Given the description of an element on the screen output the (x, y) to click on. 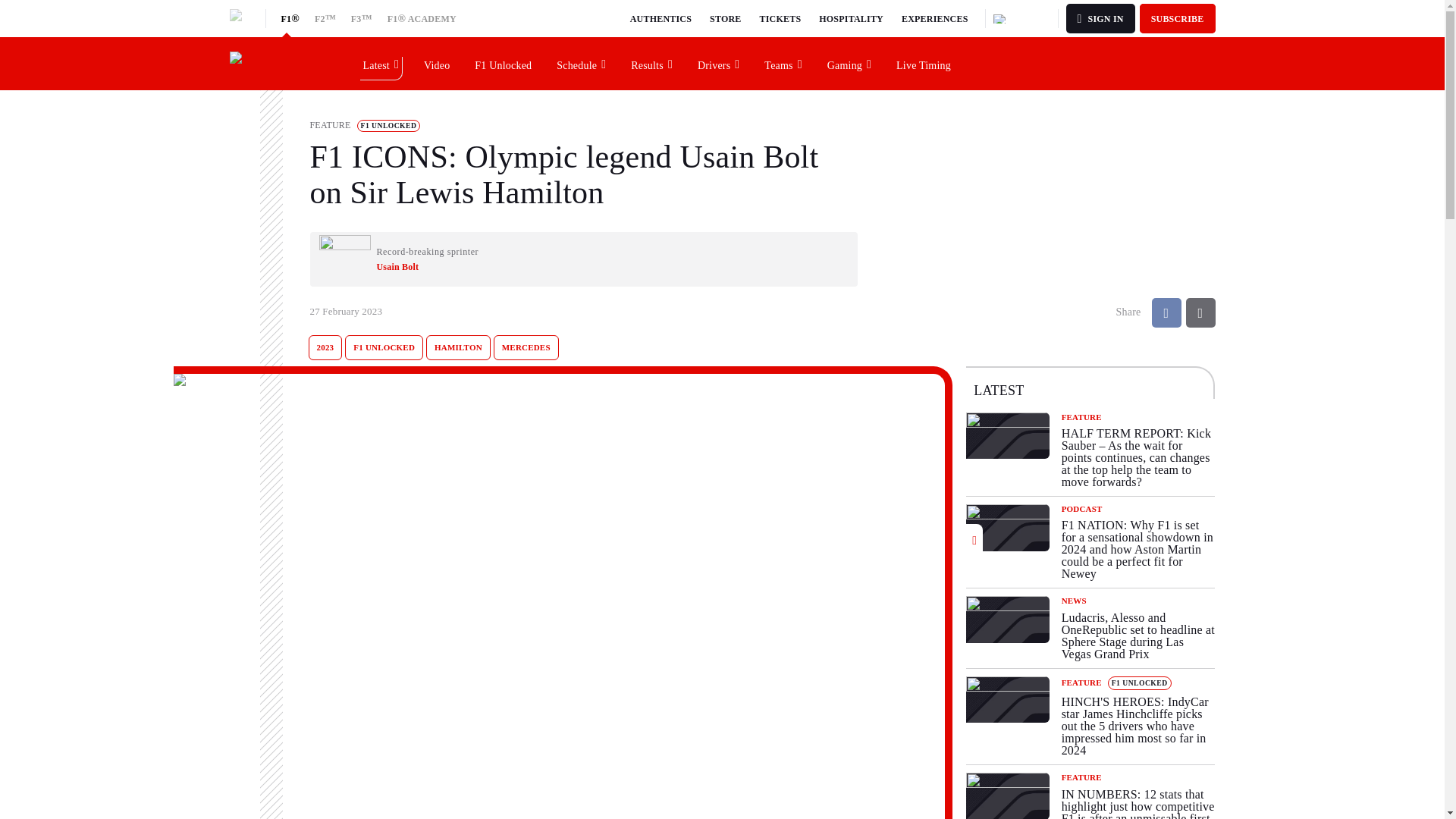
SUBSCRIBE (1177, 18)
Schedule (581, 63)
HAMILTON (458, 347)
Video (437, 63)
TICKETS (781, 18)
Gaming (849, 63)
MERCEDES (526, 347)
